Given the description of an element on the screen output the (x, y) to click on. 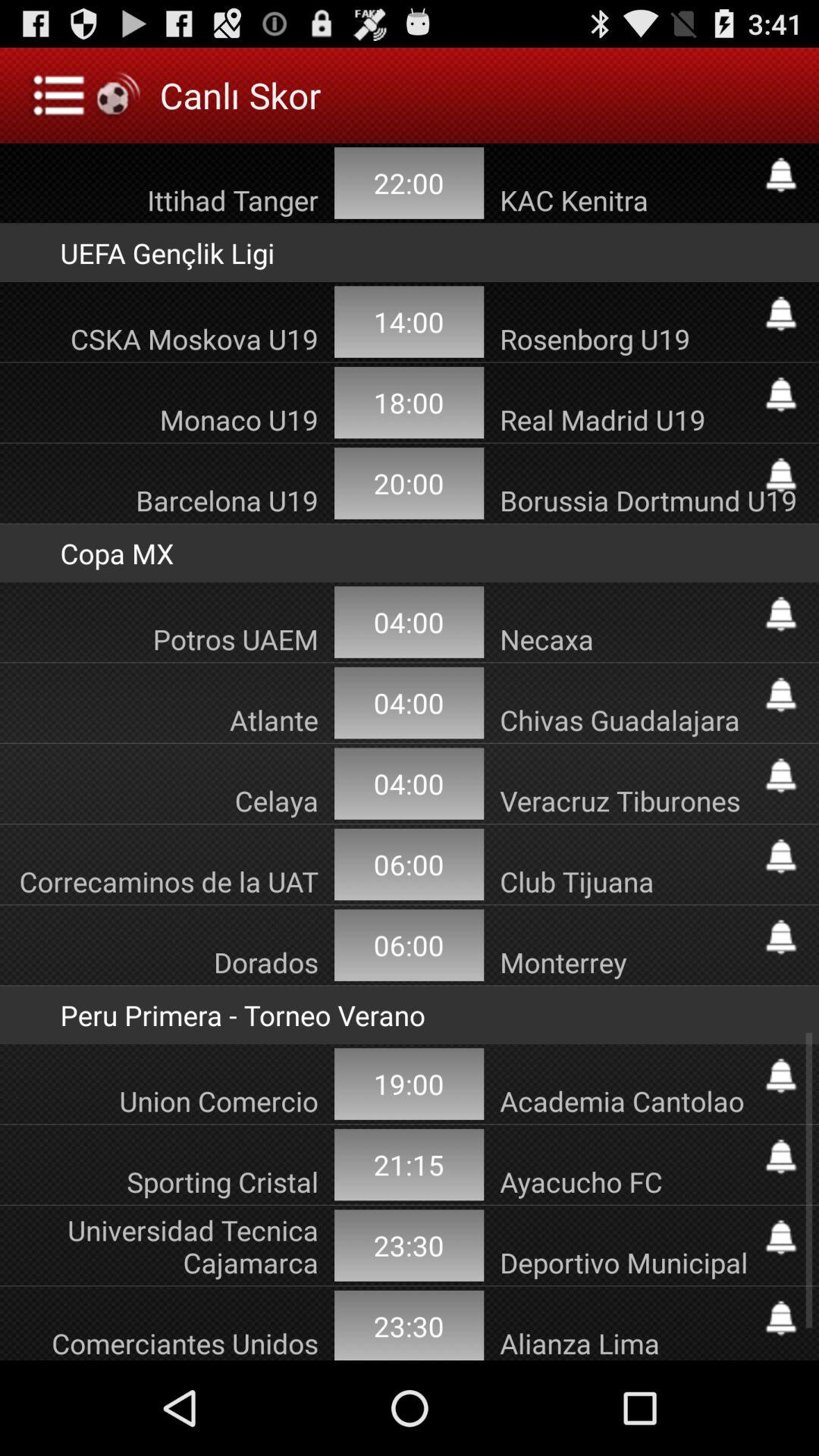
notification button (780, 694)
